Given the description of an element on the screen output the (x, y) to click on. 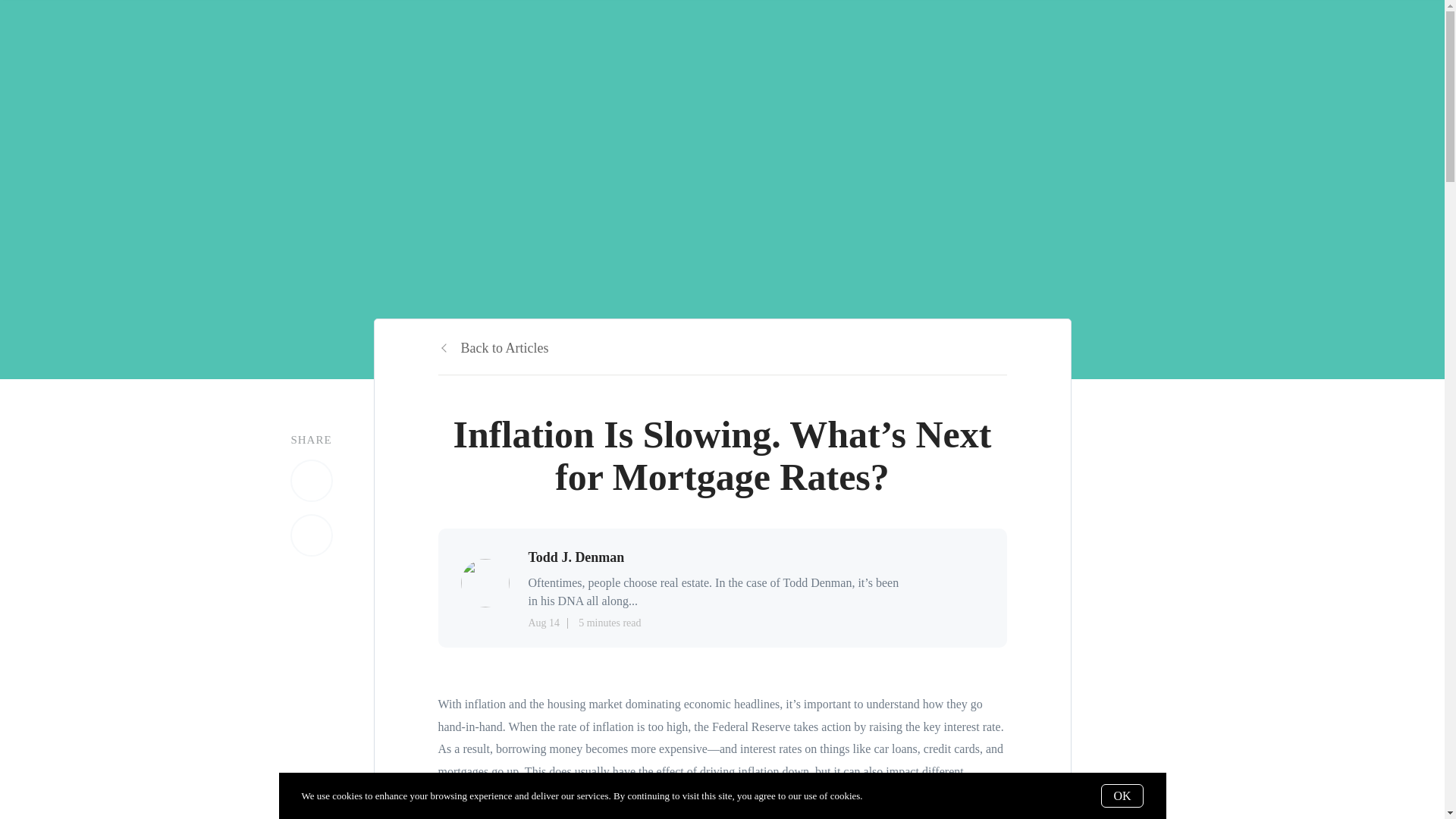
Back to Articles (493, 347)
